Given the description of an element on the screen output the (x, y) to click on. 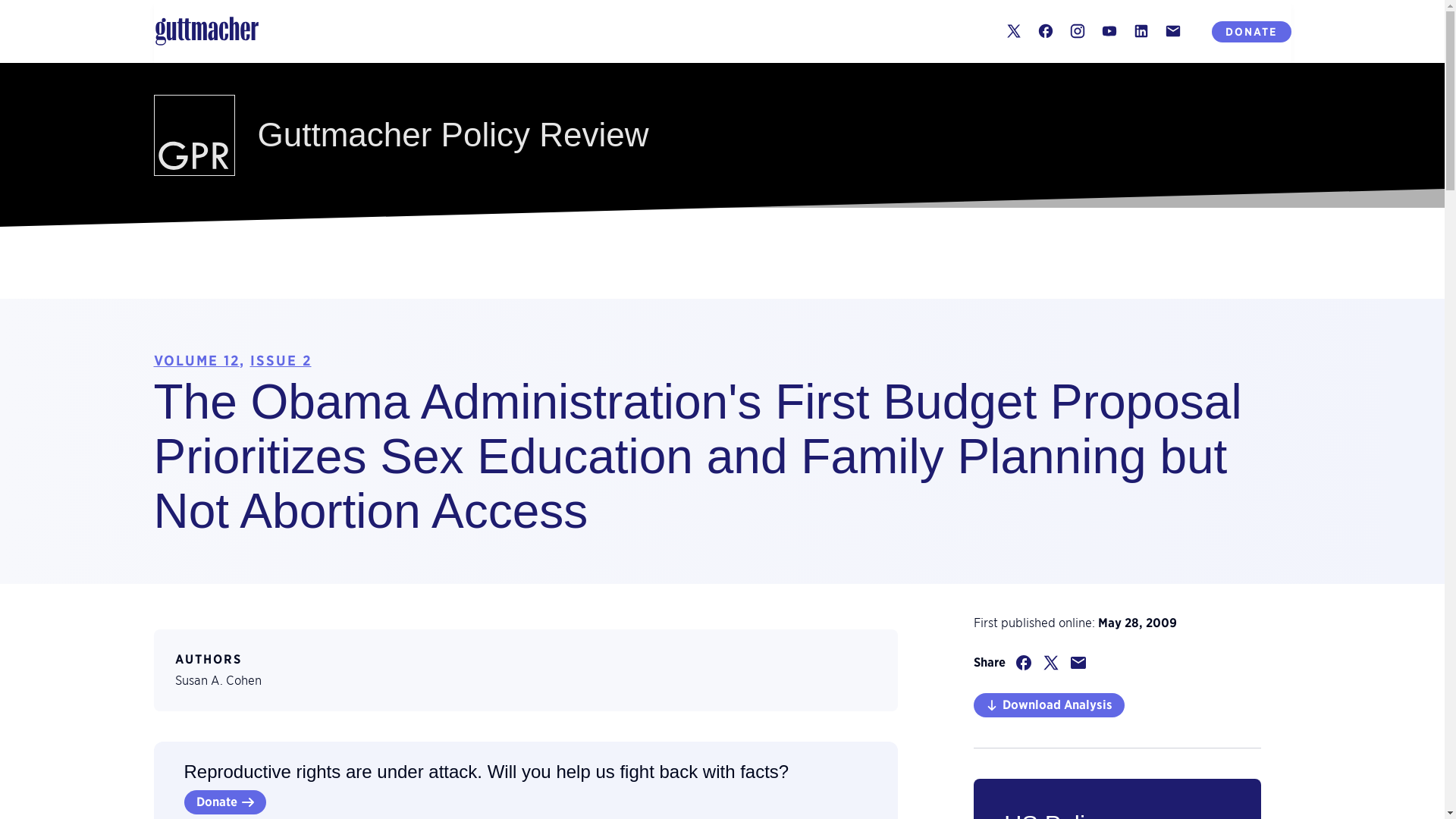
Guttmacher Policy Review (722, 135)
Download Analysis (1049, 704)
Contact (1172, 30)
DONATE (1251, 31)
VOLUME 12 (195, 360)
ISSUE 2 (280, 360)
LinkedIn (1141, 30)
Youtube (1109, 30)
Skip to main content (17, 9)
Facebook (1045, 30)
